Given the description of an element on the screen output the (x, y) to click on. 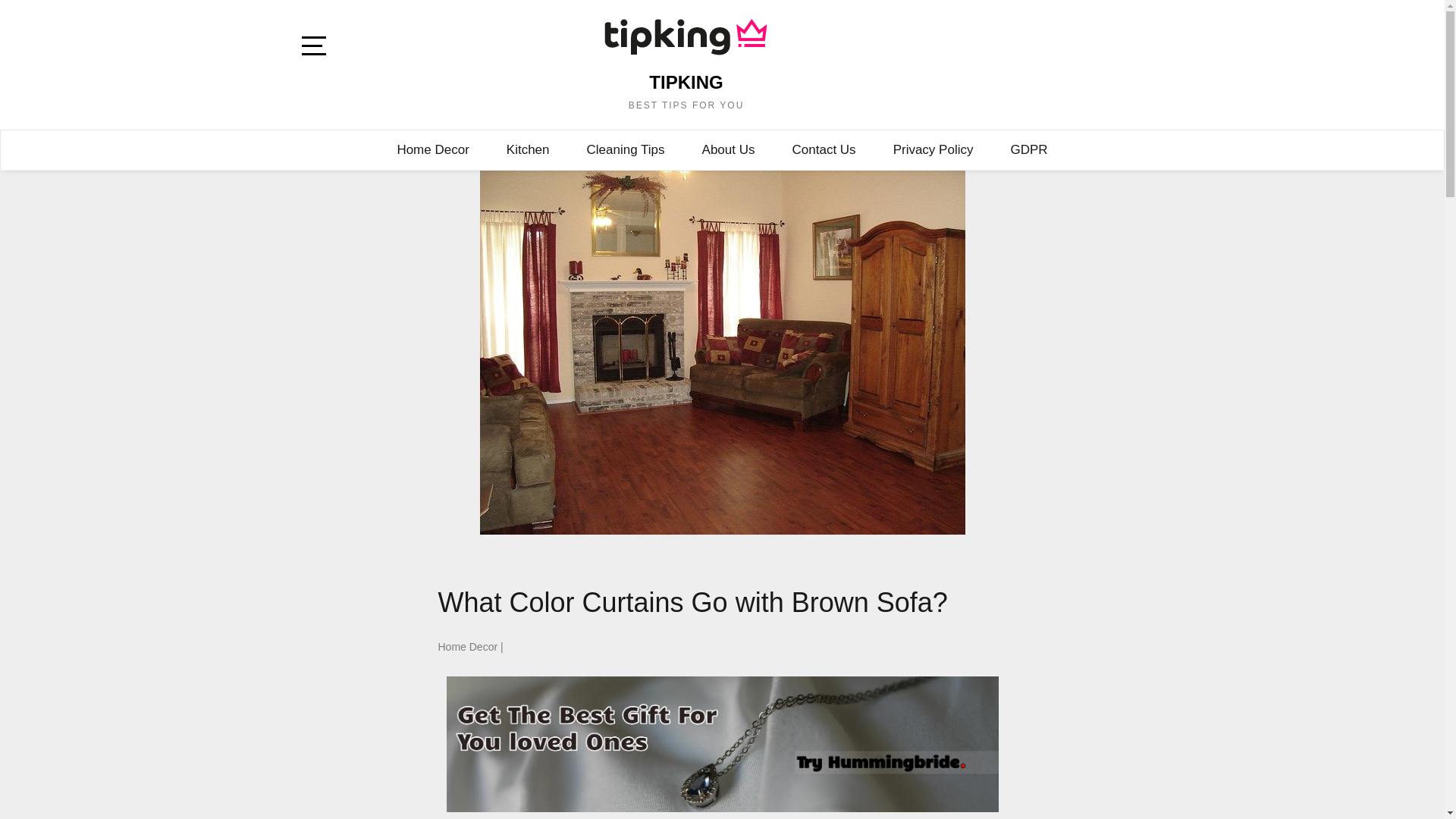
Home Decor (432, 150)
Cleaning Tips (625, 150)
About Us (728, 150)
TIPKING (685, 82)
Open Sidebar (320, 48)
GDPR (1028, 150)
Contact Us (824, 150)
Privacy Policy (933, 150)
GDPR (1028, 150)
About Us (728, 150)
Home Decor (432, 150)
Privacy Policy (933, 150)
Contact Us (824, 150)
Home Decor (467, 646)
Cleaning Tips (625, 150)
